Given the description of an element on the screen output the (x, y) to click on. 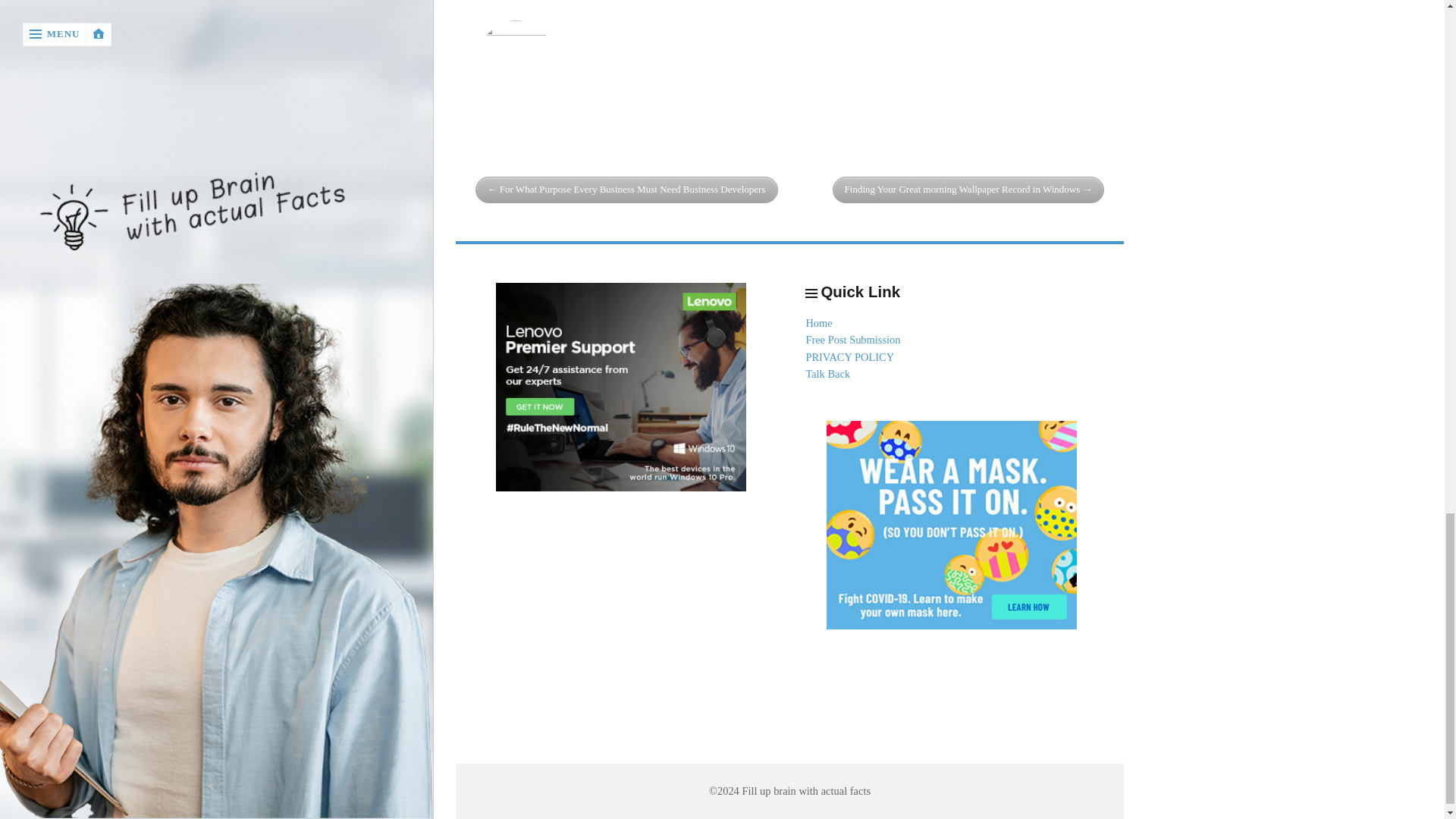
Talk Back (827, 373)
Home (818, 322)
PRIVACY POLICY (849, 357)
Free Post Submission (852, 339)
Finding Your Great morning Wallpaper Record in Windows (968, 189)
